Given the description of an element on the screen output the (x, y) to click on. 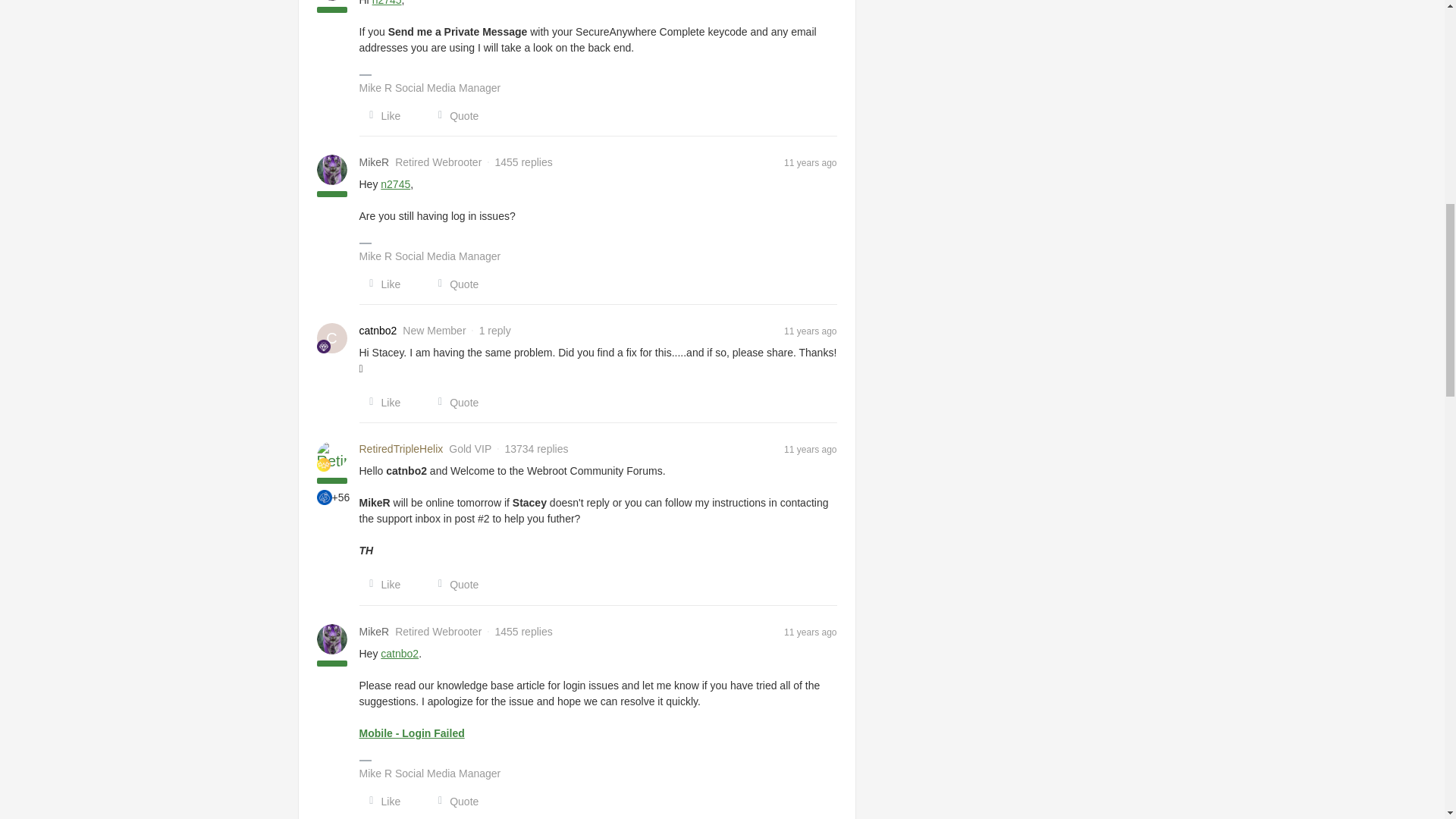
catnbo2 (378, 330)
MikeR (374, 162)
Like (380, 283)
Like (380, 115)
Most Wanted (324, 497)
n2745 (386, 2)
Quote (453, 115)
Gold VIP (323, 464)
New Member (323, 345)
MikeR (374, 162)
Quote (453, 283)
MikeR (374, 631)
RetiredTripleHelix (401, 449)
C (332, 337)
11 years ago (809, 162)
